Given the description of an element on the screen output the (x, y) to click on. 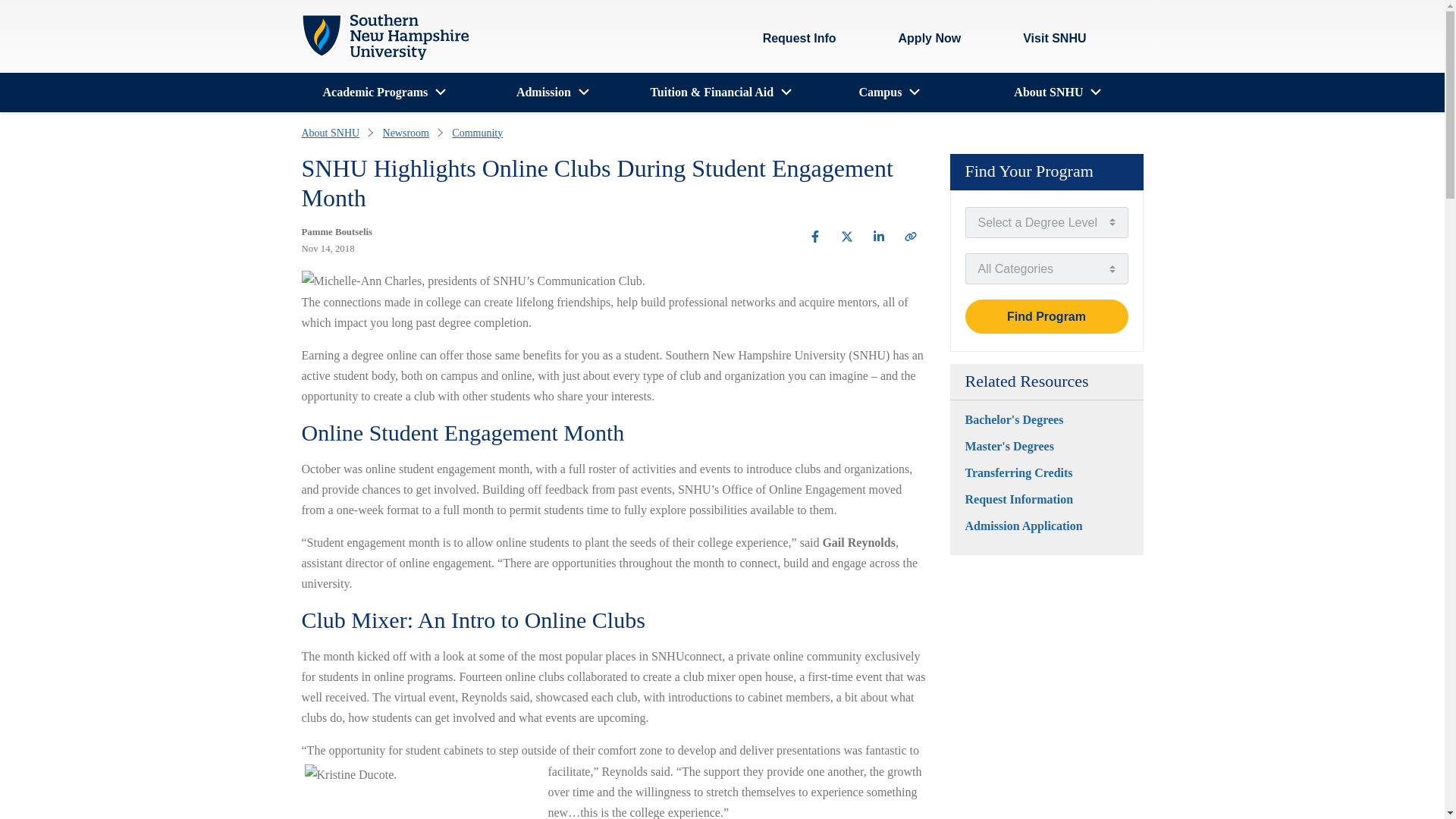
Southern New Hampshire University (384, 36)
Request Info (799, 38)
Admission (543, 91)
Visit SNHU (1041, 38)
Skip to main content (315, 10)
Academic Programs (375, 91)
Apply Now (930, 38)
